Given the description of an element on the screen output the (x, y) to click on. 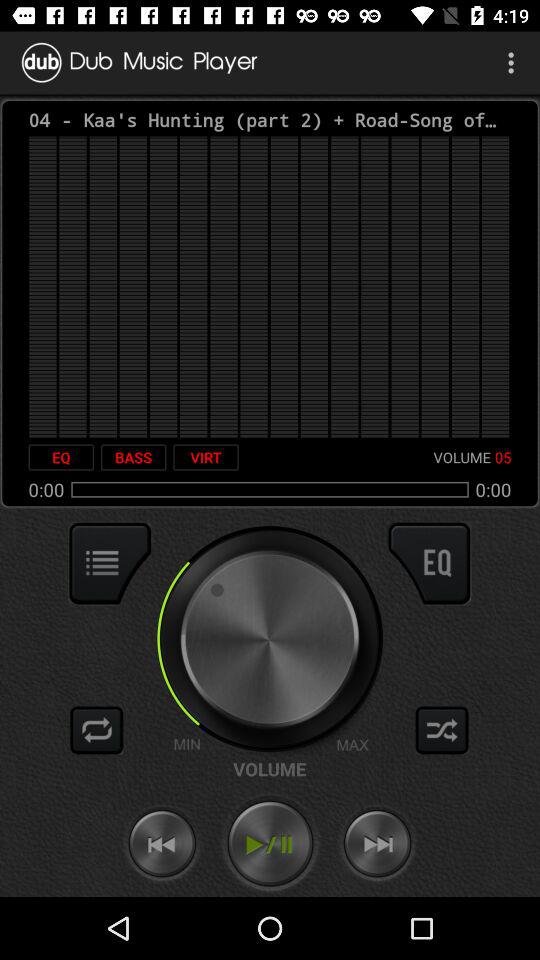
tap the icon below the volume (269, 843)
